Given the description of an element on the screen output the (x, y) to click on. 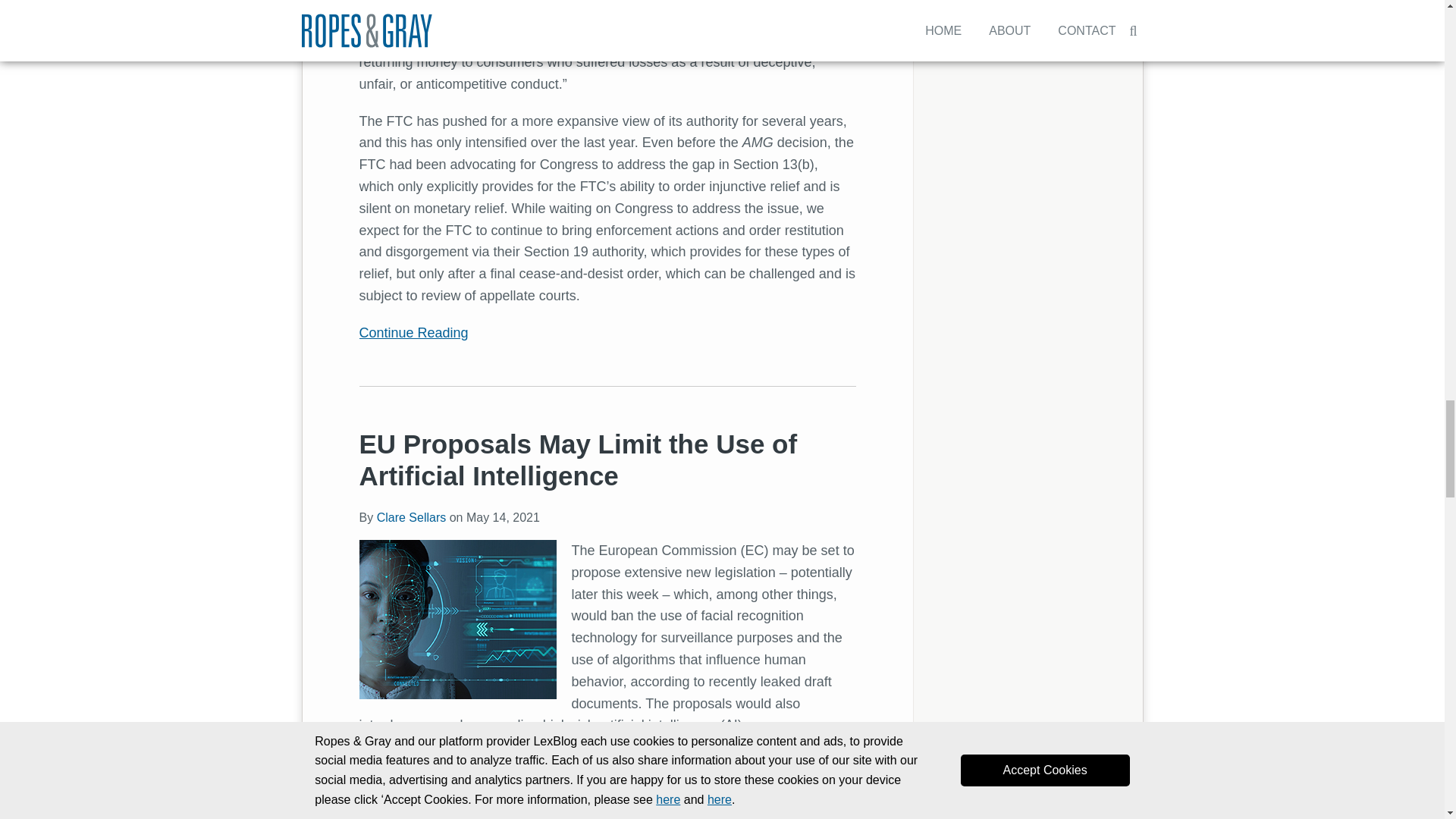
FTC has asked Congress (546, 17)
